Given the description of an element on the screen output the (x, y) to click on. 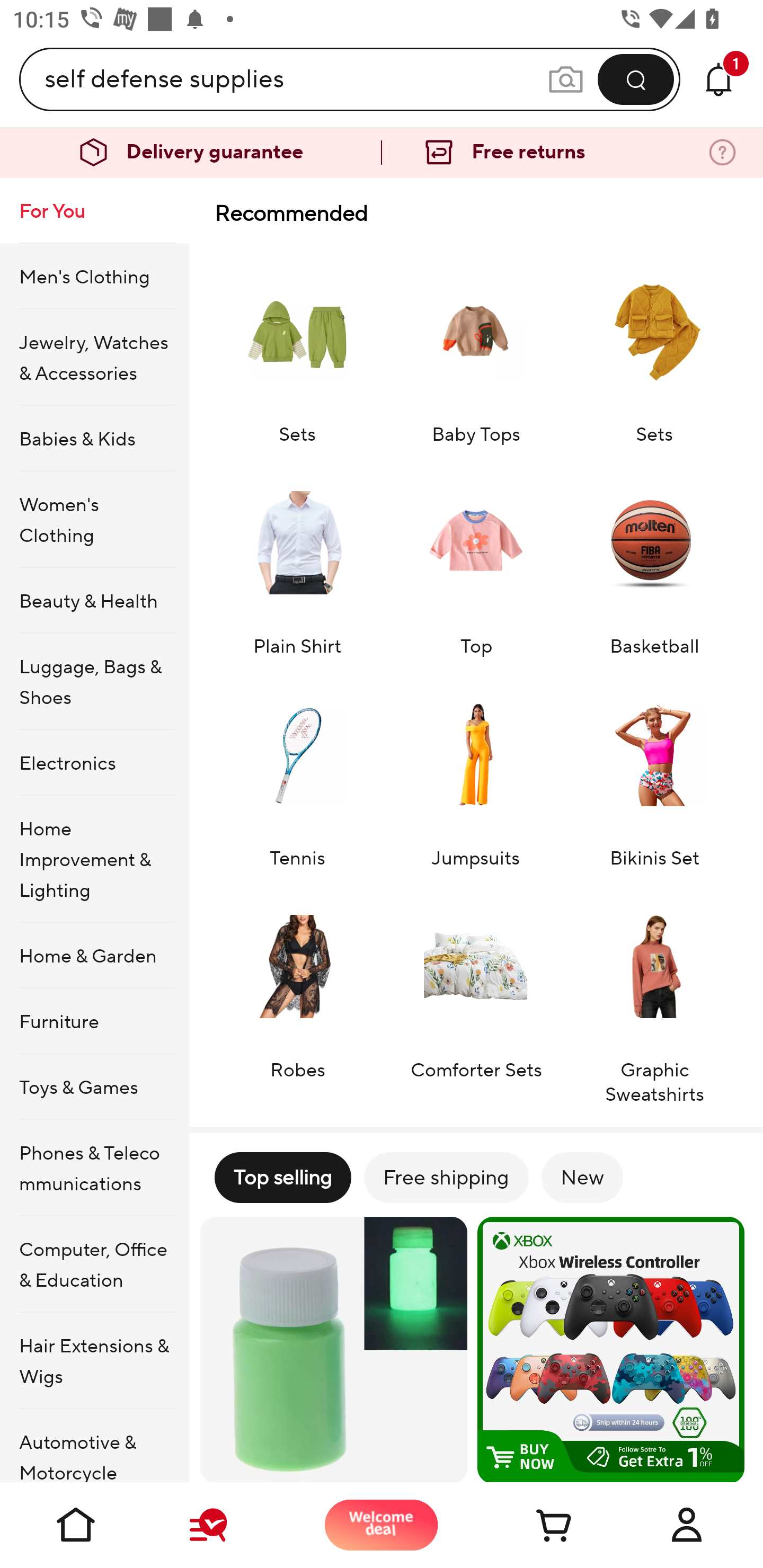
self defense supplies Search query (295, 79)
Messages 1 (718, 79)
Delivery guarantee Free returns (381, 152)
For You (94, 210)
Recommended (476, 212)
Men's Clothing (94, 275)
Sets (296, 346)
Baby Tops (475, 346)
Sets (654, 346)
Jewelry, Watches & Accessories (94, 357)
Babies & Kids (94, 438)
Plain Shirt (296, 560)
Top (475, 560)
Basketball (654, 560)
Women's Clothing (94, 519)
Beauty & Health (94, 600)
Luggage, Bags & Shoes (94, 681)
Tennis (296, 771)
Jumpsuits (475, 771)
Bikinis Set (654, 771)
Electronics (94, 762)
Home Improvement & Lighting (94, 858)
Robes (296, 995)
Comforter Sets (475, 995)
Graphic Sweatshirts (654, 995)
Home & Garden (94, 955)
Furniture (94, 1020)
Toys & Games (94, 1086)
Phones & Telecommunications (94, 1167)
Top selling (282, 1177)
Free shipping (445, 1177)
New (582, 1177)
Computer, Office & Education (94, 1264)
Hair Extensions & Wigs (94, 1360)
Automotive & Motorcycle (94, 1445)
Home (76, 1524)
Cart (533, 1524)
Account (686, 1524)
